Given the description of an element on the screen output the (x, y) to click on. 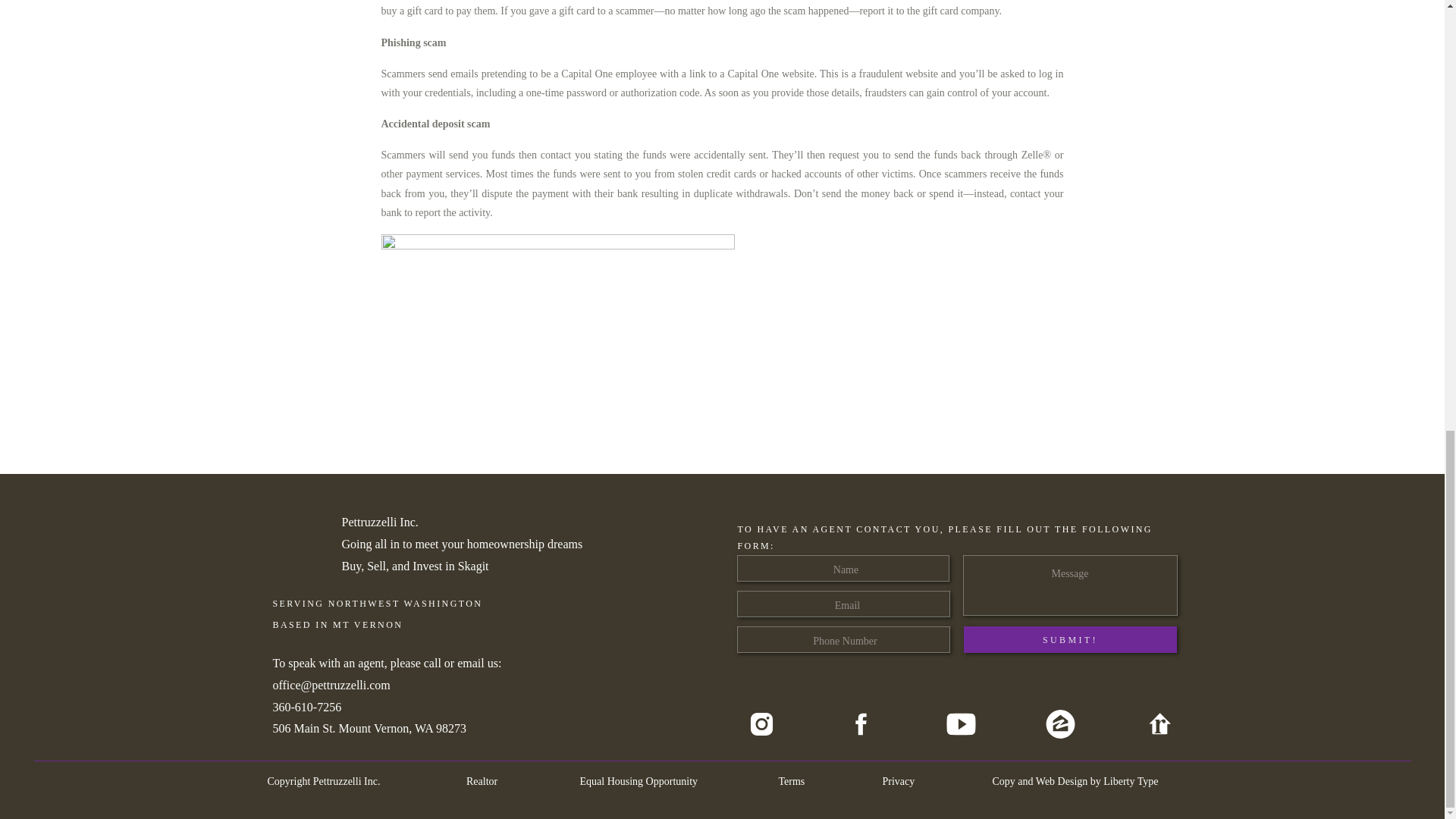
Copy and Web Design by Liberty Type (1083, 780)
Equal Housing Opportunity (640, 780)
SUBMIT! (1069, 639)
Privacy (898, 780)
Terms (791, 780)
